Given the description of an element on the screen output the (x, y) to click on. 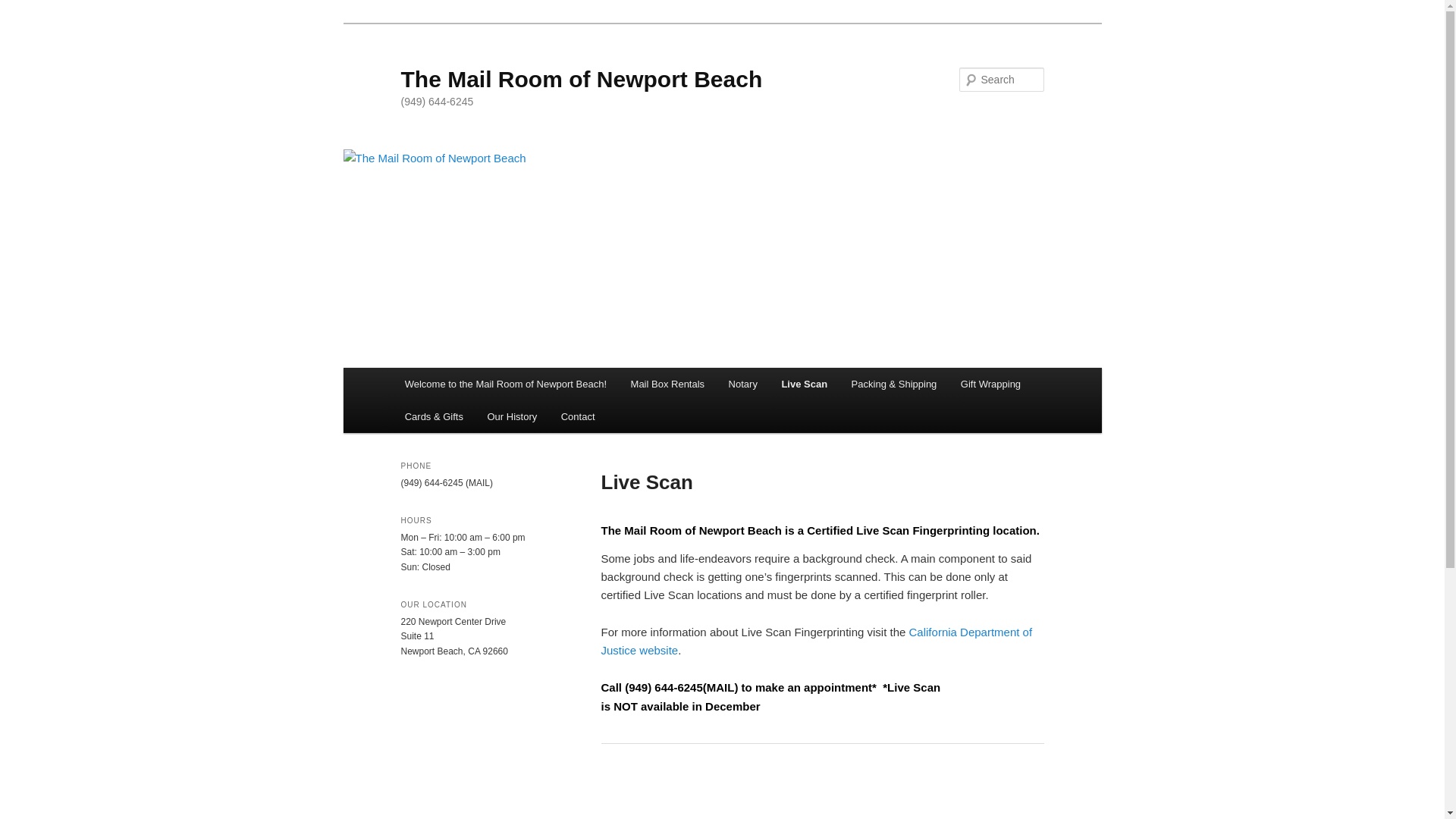
Mail Box Rentals (667, 383)
Welcome to the Mail Room of Newport Beach! (505, 383)
California Department of Justice website (815, 640)
Notary (743, 383)
Live Scan (805, 383)
The Mail Room of Newport Beach (580, 78)
Gift Wrapping (990, 383)
Live Scan Info (815, 640)
Contact (577, 416)
Our History (512, 416)
Search (24, 8)
